Given the description of an element on the screen output the (x, y) to click on. 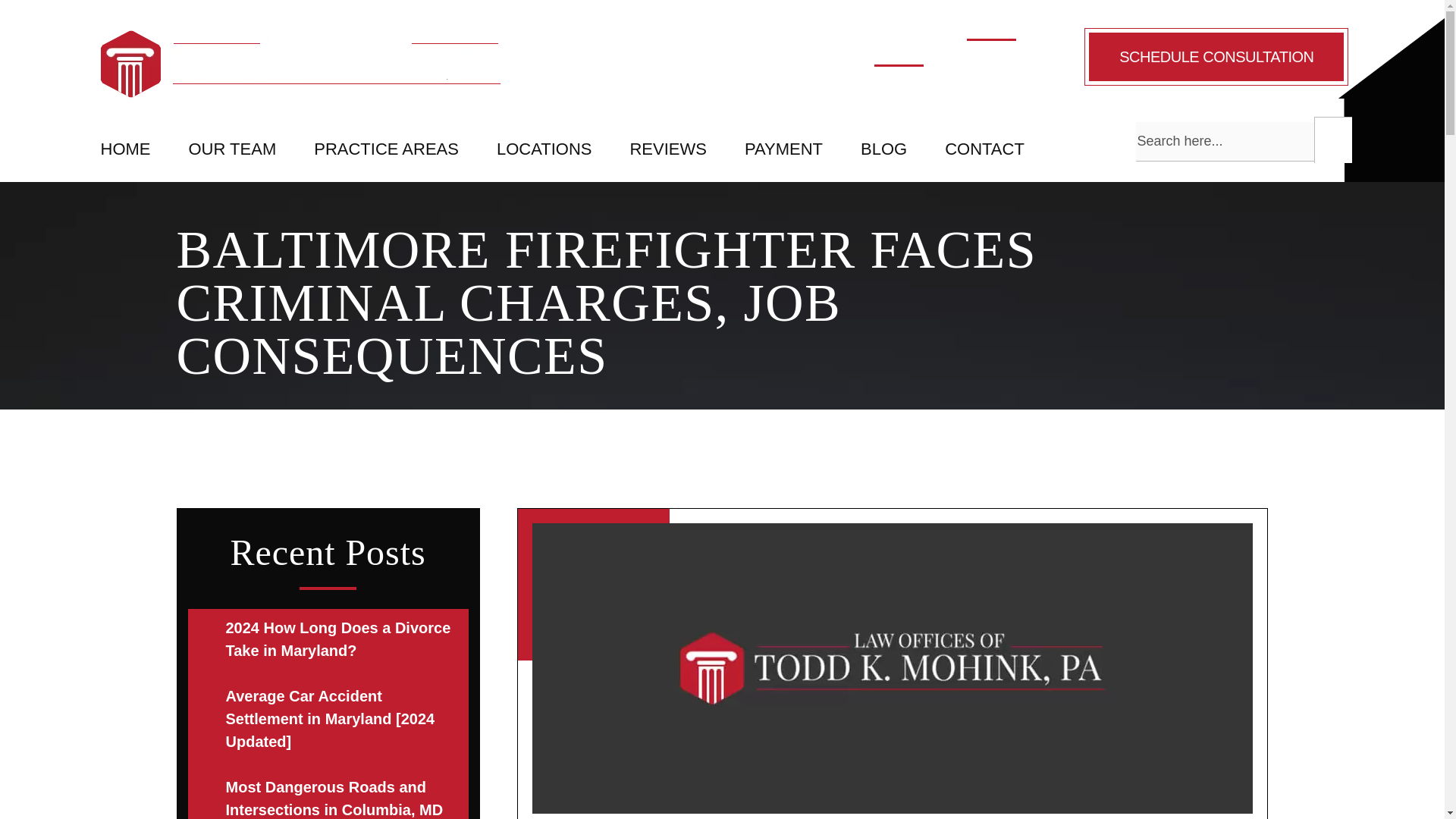
HOME (124, 148)
SCHEDULE CONSULTATION (1216, 55)
PRACTICE AREAS (386, 148)
OUR TEAM (231, 148)
410-766-0113 (690, 65)
